Given the description of an element on the screen output the (x, y) to click on. 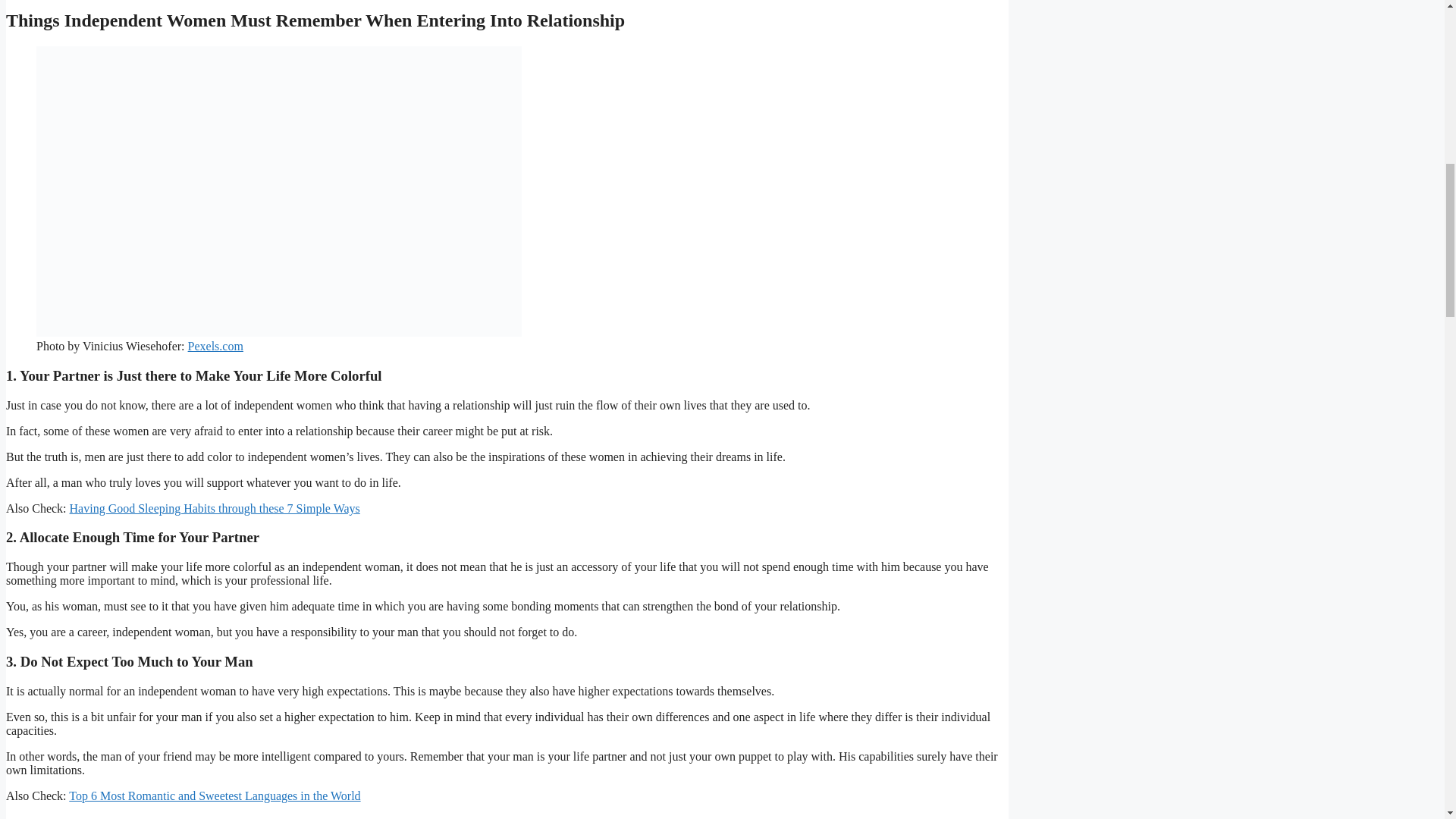
Having Good Sleeping Habits through these 7 Simple Ways (214, 508)
Pexels.com (215, 345)
Top 6 Most Romantic and Sweetest Languages in the World (213, 795)
